Given the description of an element on the screen output the (x, y) to click on. 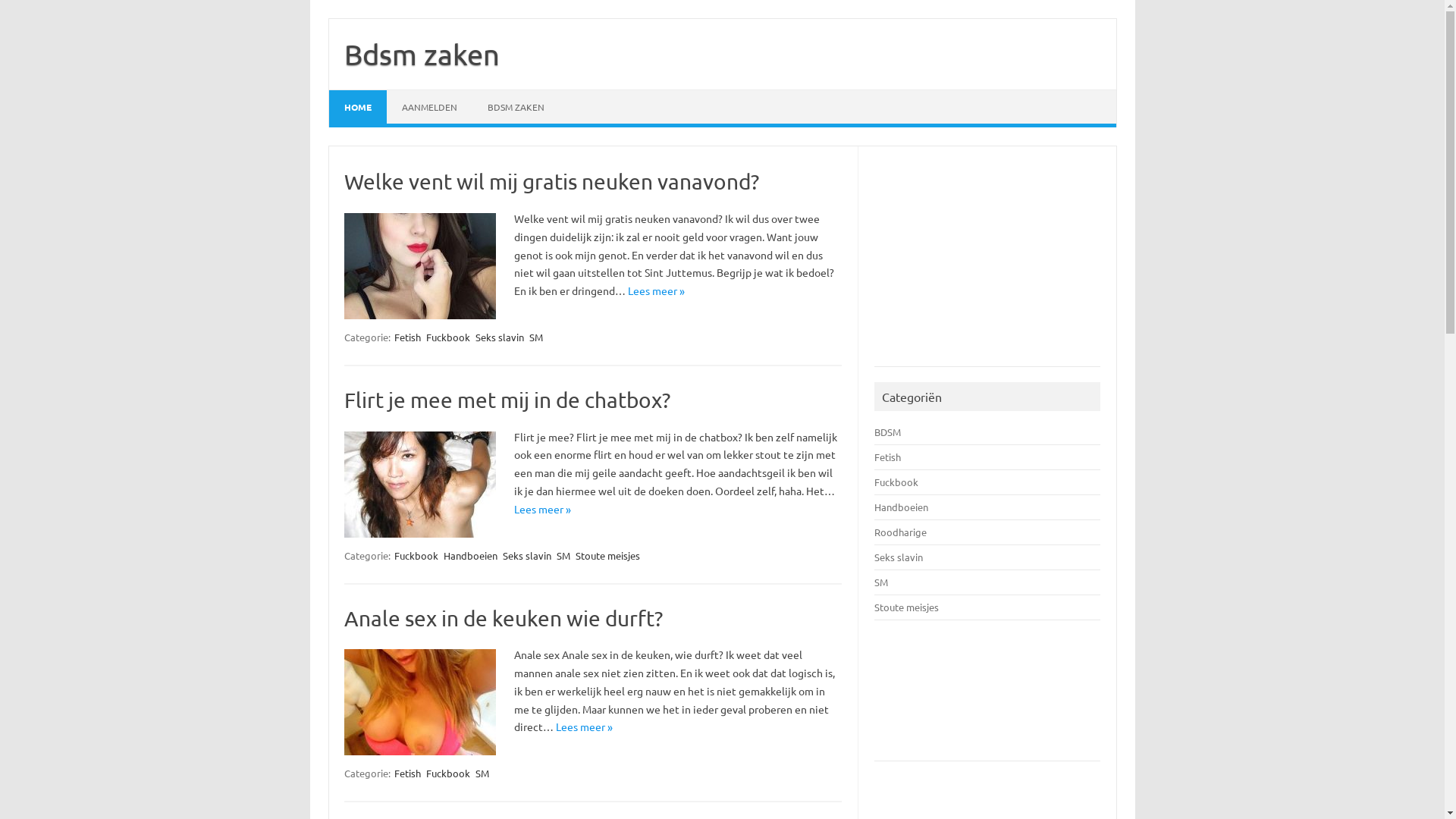
BDSM ZAKEN Element type: text (514, 106)
HOME Element type: text (357, 106)
Seks slavin Element type: text (499, 337)
Welke vent wil mij gratis neuken vanavond? Element type: text (551, 181)
SM Element type: text (535, 337)
Bdsm zaken Element type: text (421, 53)
Handboeien Element type: text (470, 555)
BDSM Element type: text (887, 431)
Roodharige Element type: text (900, 531)
Handboeien Element type: text (901, 506)
SM Element type: text (481, 773)
Fuckbook Element type: text (447, 773)
Stoute meisjes Element type: text (607, 555)
Fuckbook Element type: text (415, 555)
AANMELDEN Element type: text (429, 106)
Seks slavin Element type: text (898, 556)
Seks slavin Element type: text (526, 555)
Fuckbook Element type: text (447, 337)
SM Element type: text (881, 581)
Fuckbook Element type: text (896, 481)
Flirt je mee met mij in de chatbox? Element type: text (507, 399)
Anale sex in de keuken wie durft? Element type: text (503, 617)
Spring naar inhoud Element type: text (327, 17)
Stoute meisjes Element type: text (906, 606)
Fetish Element type: text (407, 337)
Fetish Element type: text (887, 456)
SM Element type: text (563, 555)
Fetish Element type: text (407, 773)
